Given the description of an element on the screen output the (x, y) to click on. 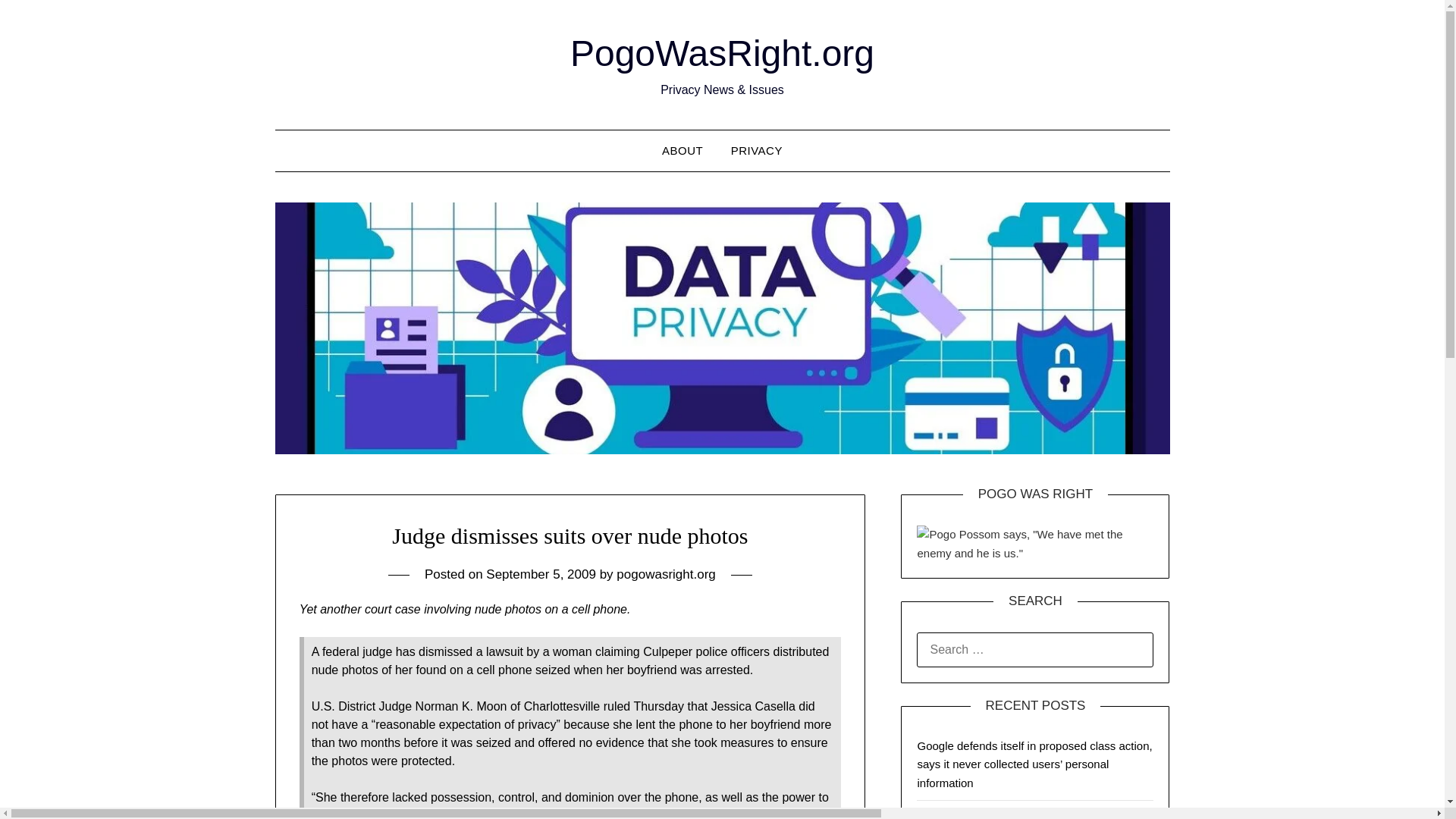
ABOUT (681, 150)
PRIVACY (756, 150)
Pogo Was Right (1035, 543)
pogowasright.org (664, 574)
September 5, 2009 (540, 574)
PogoWasRight.org (722, 53)
Search (38, 22)
